Given the description of an element on the screen output the (x, y) to click on. 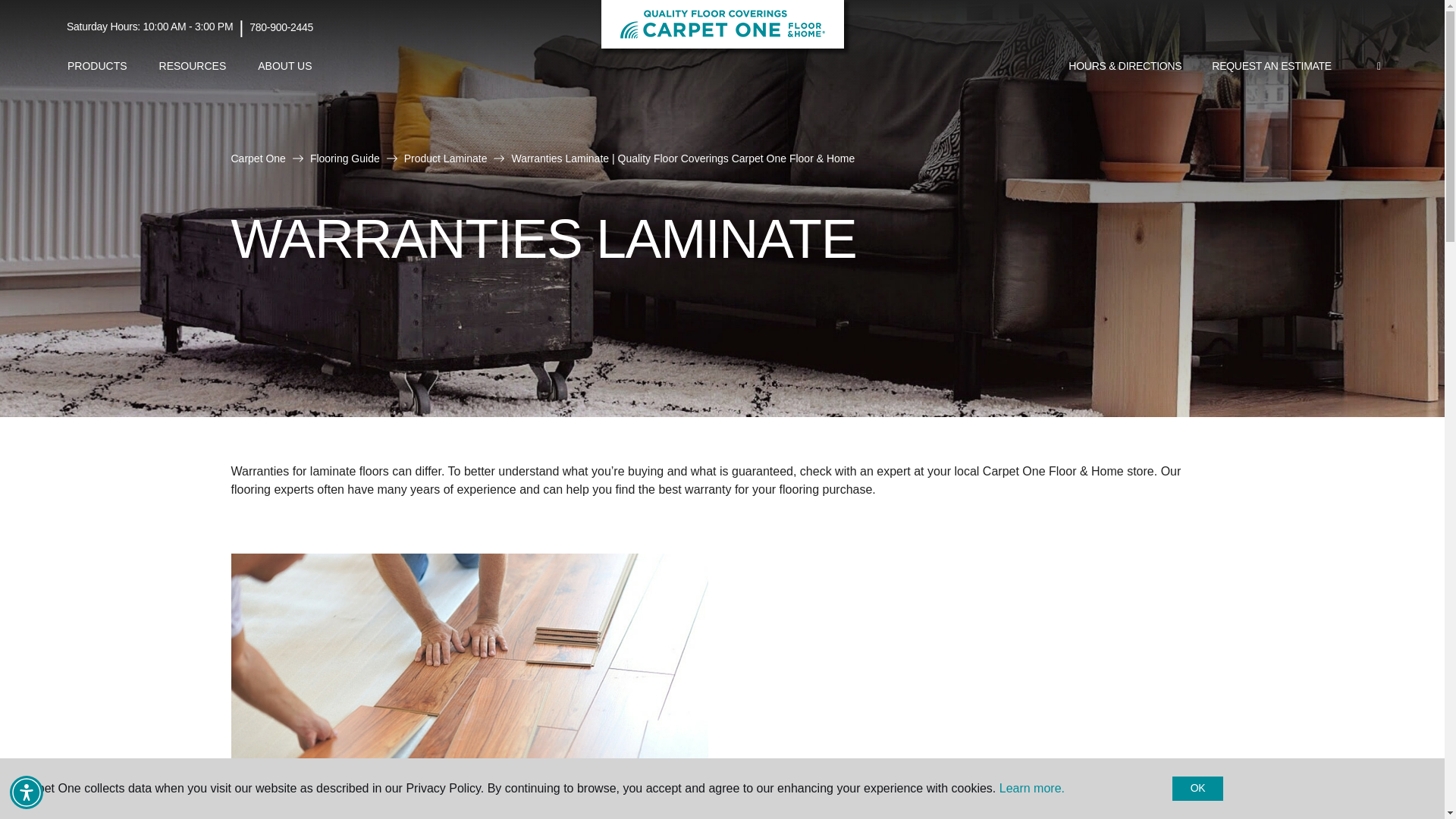
REQUEST AN ESTIMATE (1271, 66)
ABOUT US (284, 66)
PRODUCTS (97, 66)
RESOURCES (193, 66)
780-900-2445 (280, 27)
Accessibility Menu (26, 792)
